Given the description of an element on the screen output the (x, y) to click on. 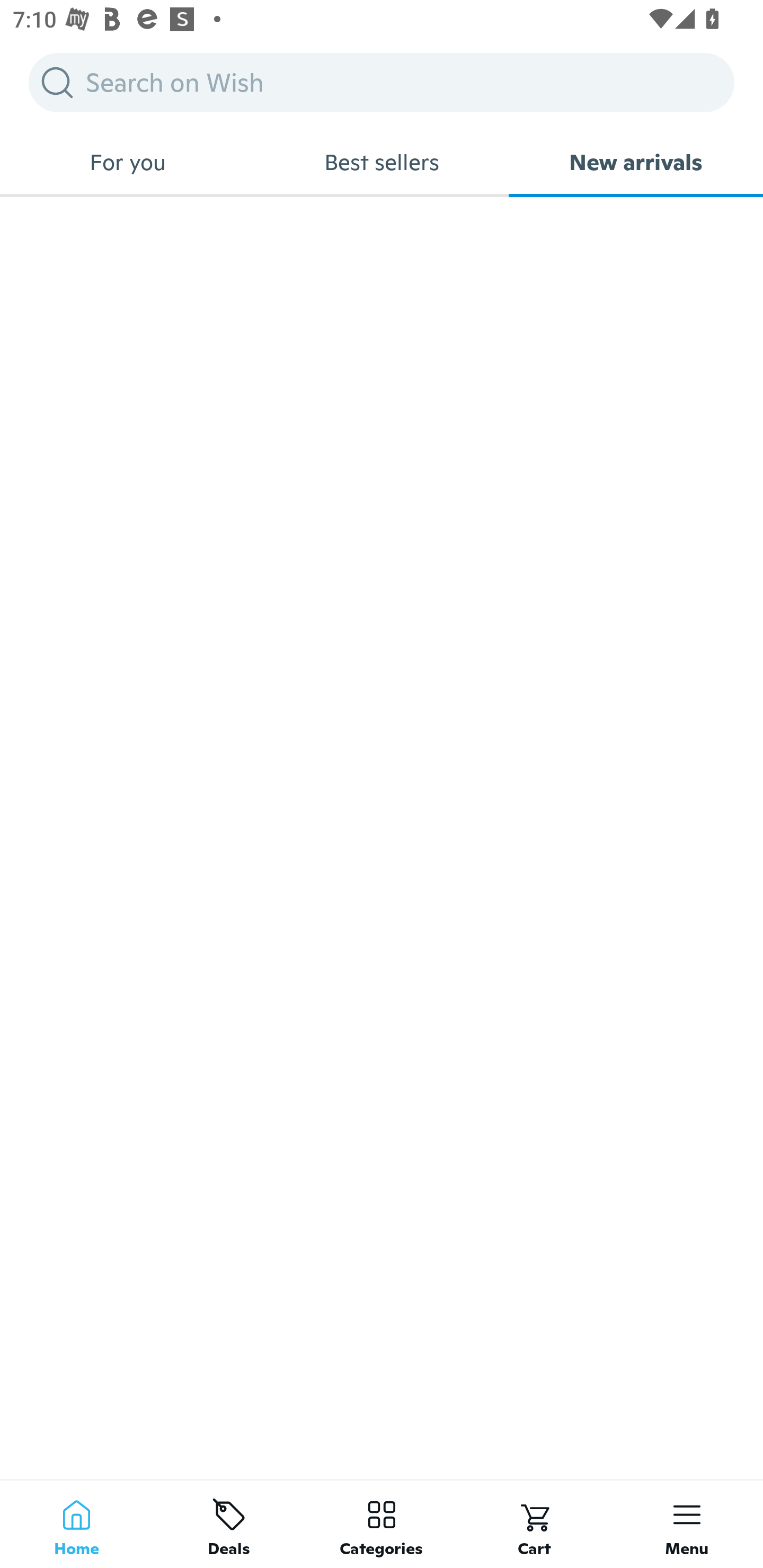
Search on Wish (381, 82)
For you (127, 161)
Best sellers (381, 161)
New arrivals (635, 161)
Home (76, 1523)
Deals (228, 1523)
Categories (381, 1523)
Cart (533, 1523)
Menu (686, 1523)
